Given the description of an element on the screen output the (x, y) to click on. 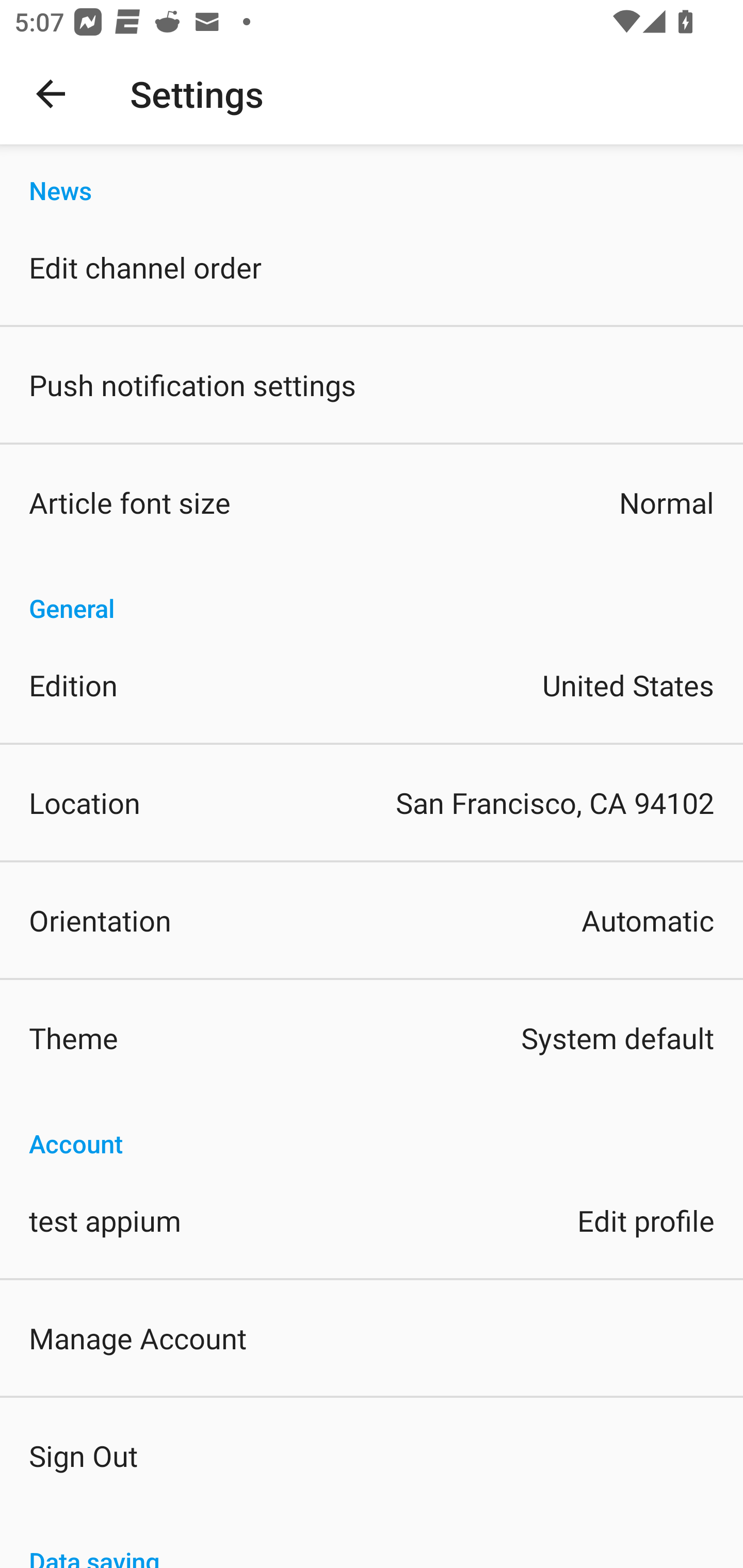
Navigate up (50, 93)
Edit channel order (371, 267)
Push notification settings (371, 384)
Article font size Normal (371, 502)
Edition United States (371, 685)
Location San Francisco, CA 94102 (371, 802)
Orientation Automatic (371, 920)
Theme System default (371, 1038)
test appium Edit profile (371, 1219)
Manage Account (371, 1337)
Sign Out (371, 1455)
